Given the description of an element on the screen output the (x, y) to click on. 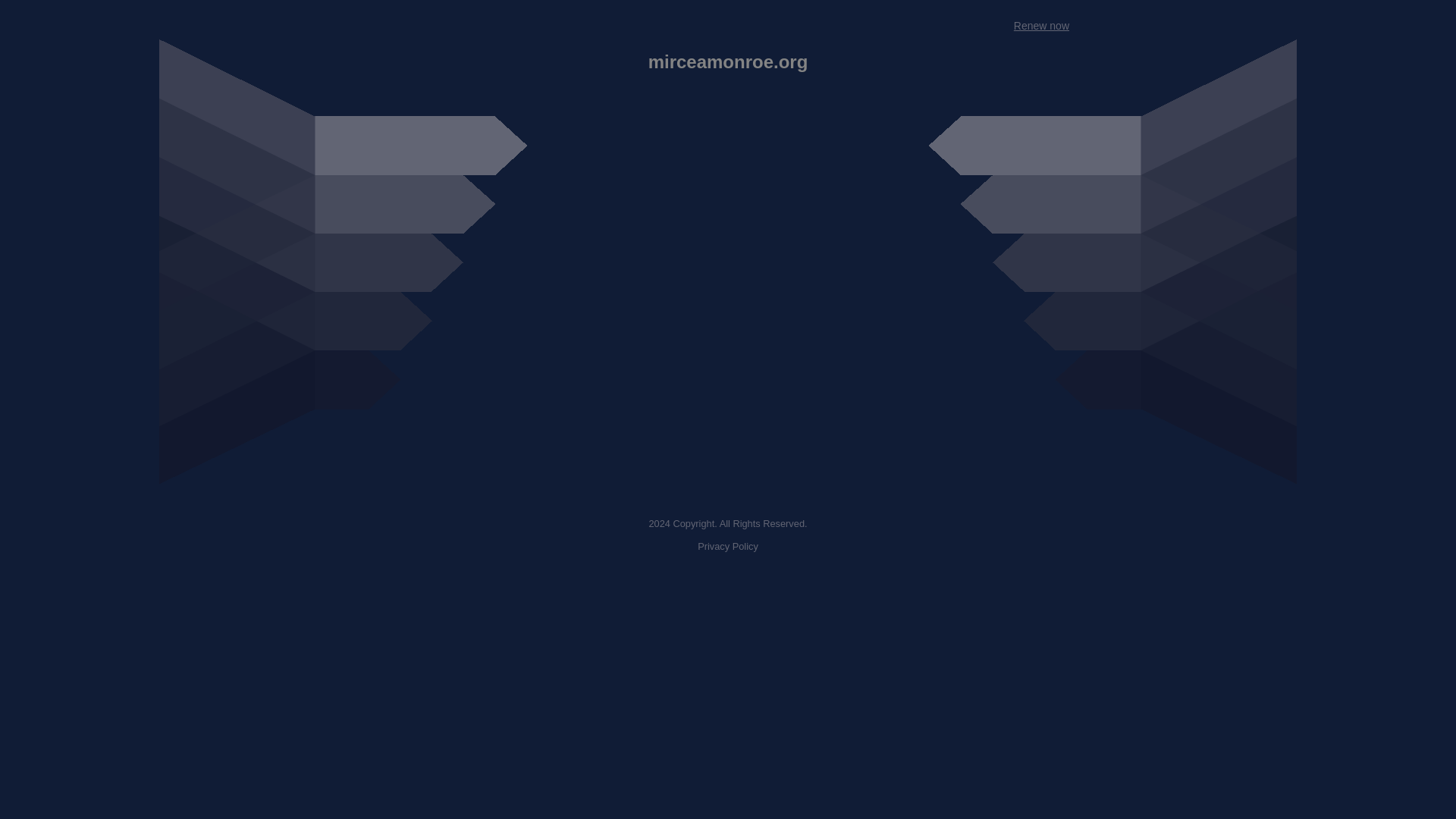
Renew now (1040, 25)
Privacy Policy (727, 546)
